Given the description of an element on the screen output the (x, y) to click on. 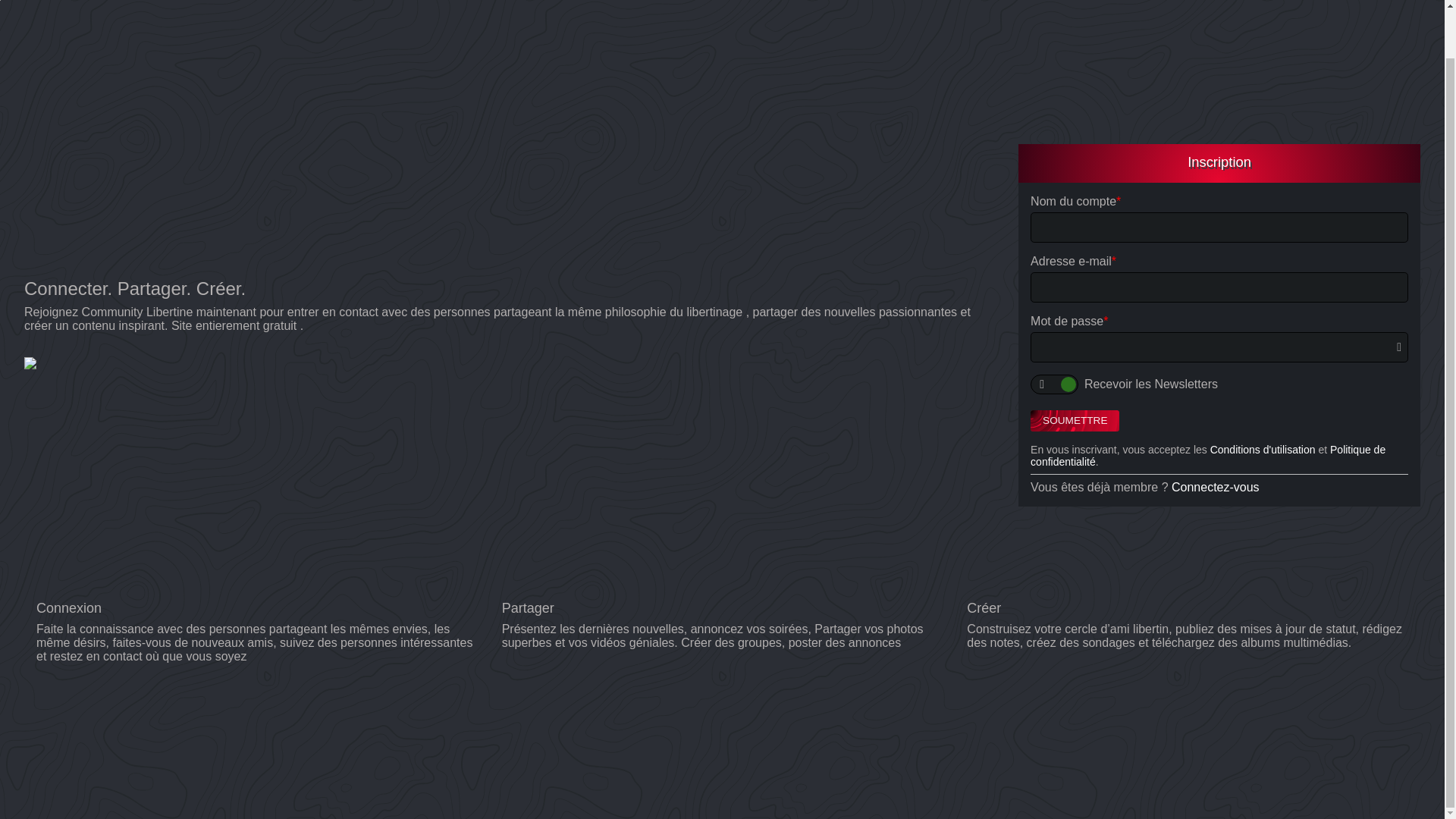
Conditions d'utilisation (1262, 449)
Connectez-vous (1215, 486)
SOUMETTRE (1074, 420)
